Given the description of an element on the screen output the (x, y) to click on. 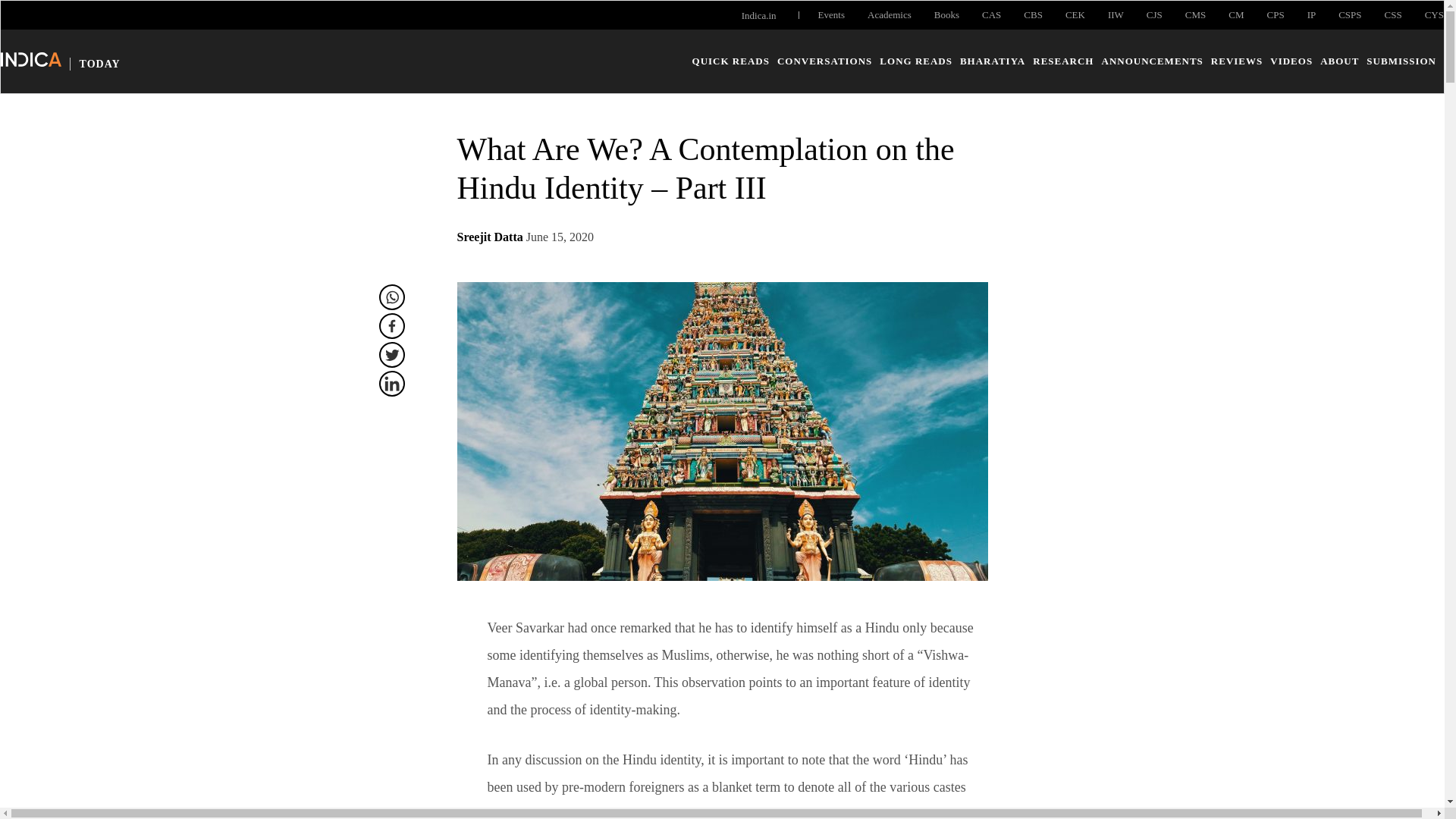
IP (1311, 15)
CSPS (1349, 15)
REVIEWS (1236, 61)
LONG READS (915, 61)
Whatsapp (391, 297)
CSS (1393, 15)
ABOUT (1339, 61)
CONVERSATIONS (824, 61)
IIW (1116, 15)
TODAY (60, 62)
Twitter (391, 354)
QUICK READS (731, 61)
CPS (1275, 15)
Indica.in (758, 15)
Books (946, 15)
